Given the description of an element on the screen output the (x, y) to click on. 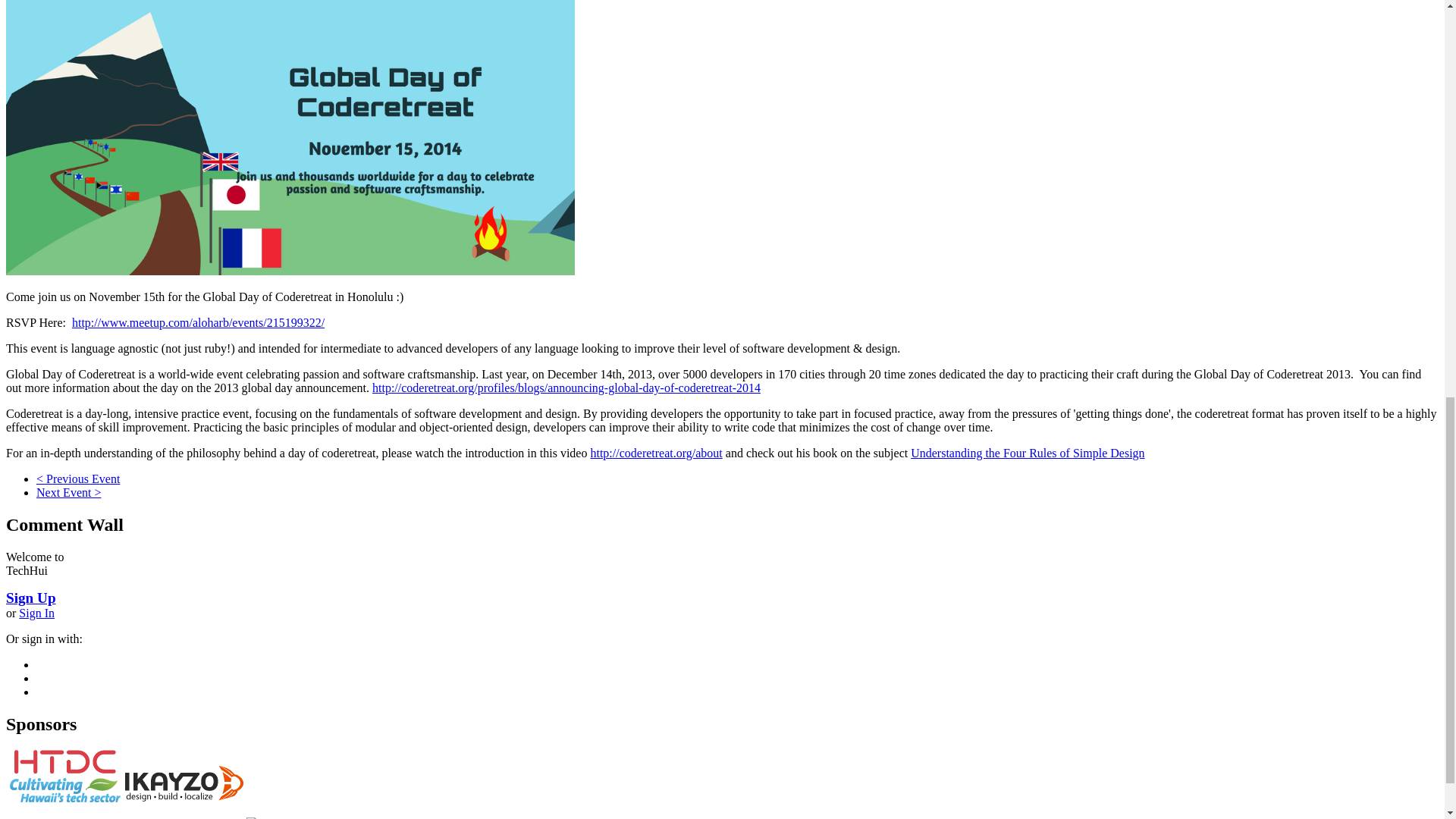
Startup Weekend Honolulu (77, 478)
Understanding the Four Rules of Simple Design (1027, 452)
Web Workflow with Morgan Nixon (68, 492)
